Given the description of an element on the screen output the (x, y) to click on. 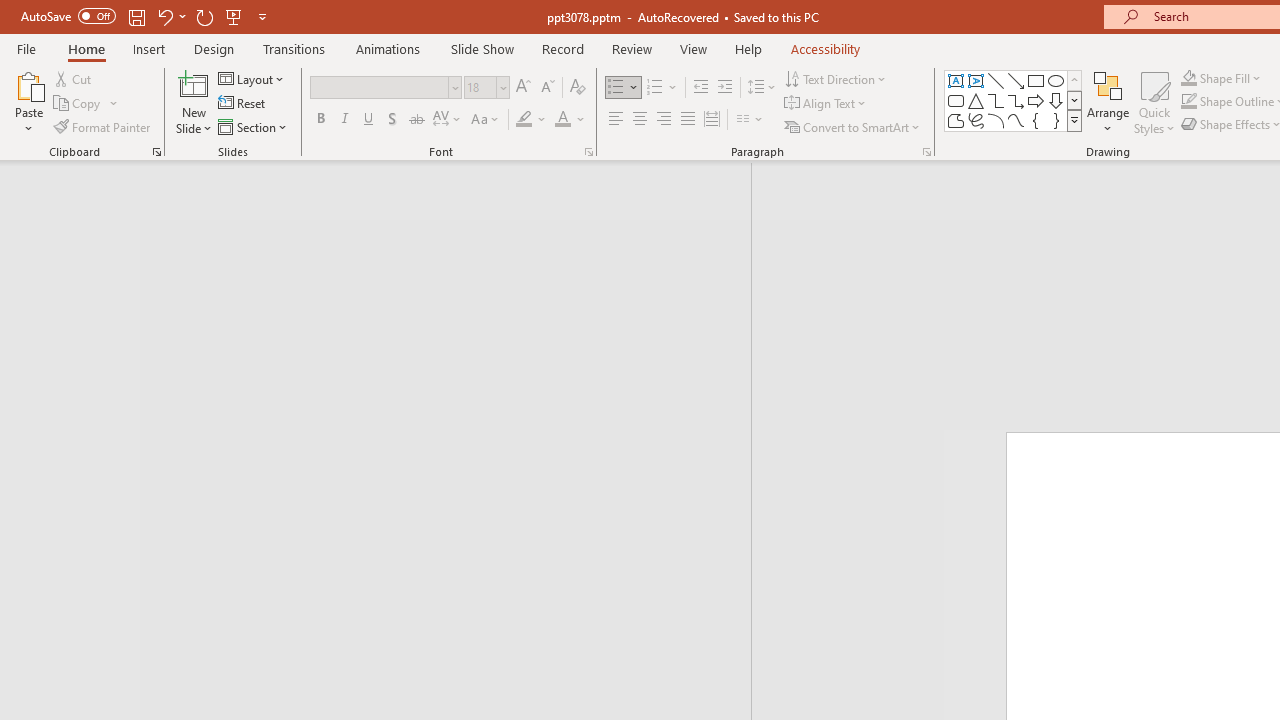
Row up (1074, 79)
Font... (588, 151)
Font Color (569, 119)
Rectangle: Rounded Corners (955, 100)
Quick Styles (1154, 102)
Shapes (1074, 120)
AutomationID: ShapesInsertGallery (1014, 100)
Format Painter (103, 126)
Review (631, 48)
Left Brace (1035, 120)
Numbering (654, 87)
File Tab (26, 48)
Curve (1016, 120)
